Given the description of an element on the screen output the (x, y) to click on. 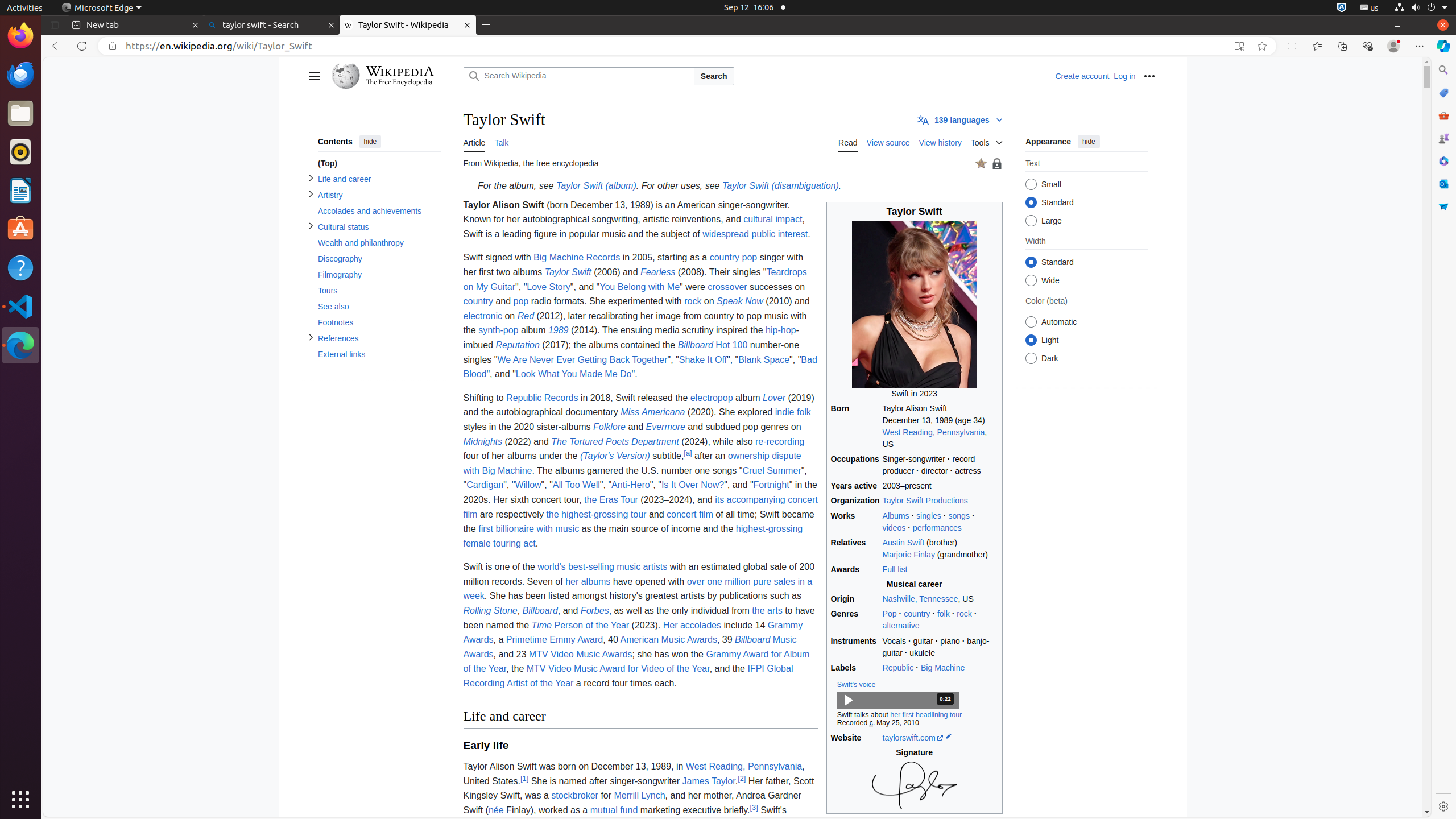
Billboard Hot 100 Element type: link (712, 344)
Republic Element type: link (897, 667)
taylorswift .com Element type: link (912, 737)
Edit this at Wikidata Element type: link (948, 737)
Fearless Element type: link (657, 271)
